Given the description of an element on the screen output the (x, y) to click on. 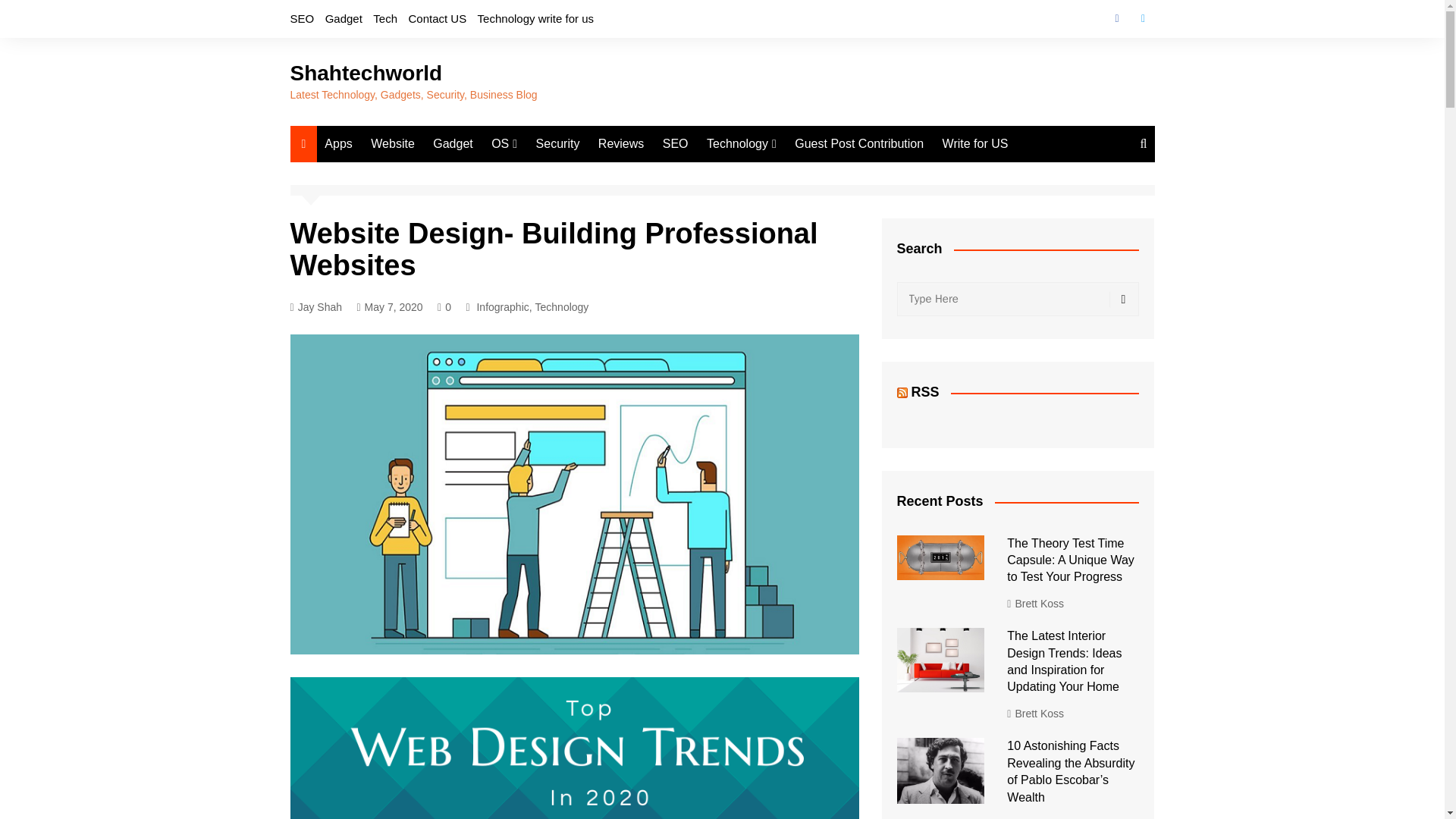
Contact US (436, 18)
Write for US (975, 144)
Twitter (1142, 18)
Technology (562, 306)
Gadget (452, 144)
Facebook (1116, 18)
Reviews (620, 144)
Android (566, 174)
SEO (301, 18)
Jay Shah (315, 307)
